Given the description of an element on the screen output the (x, y) to click on. 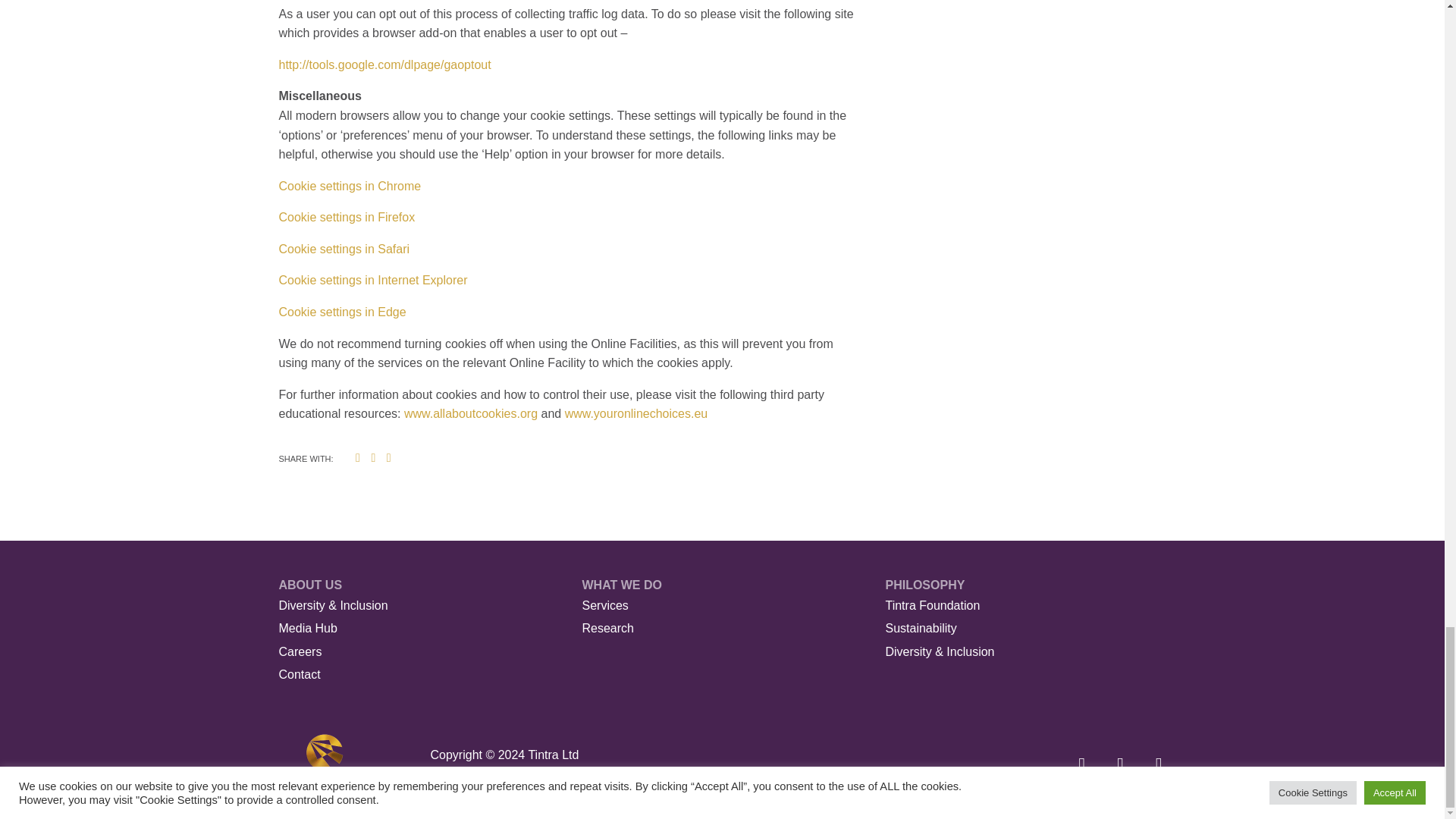
Twitter (358, 457)
Facebook (372, 457)
LinkedIn (388, 457)
